Given the description of an element on the screen output the (x, y) to click on. 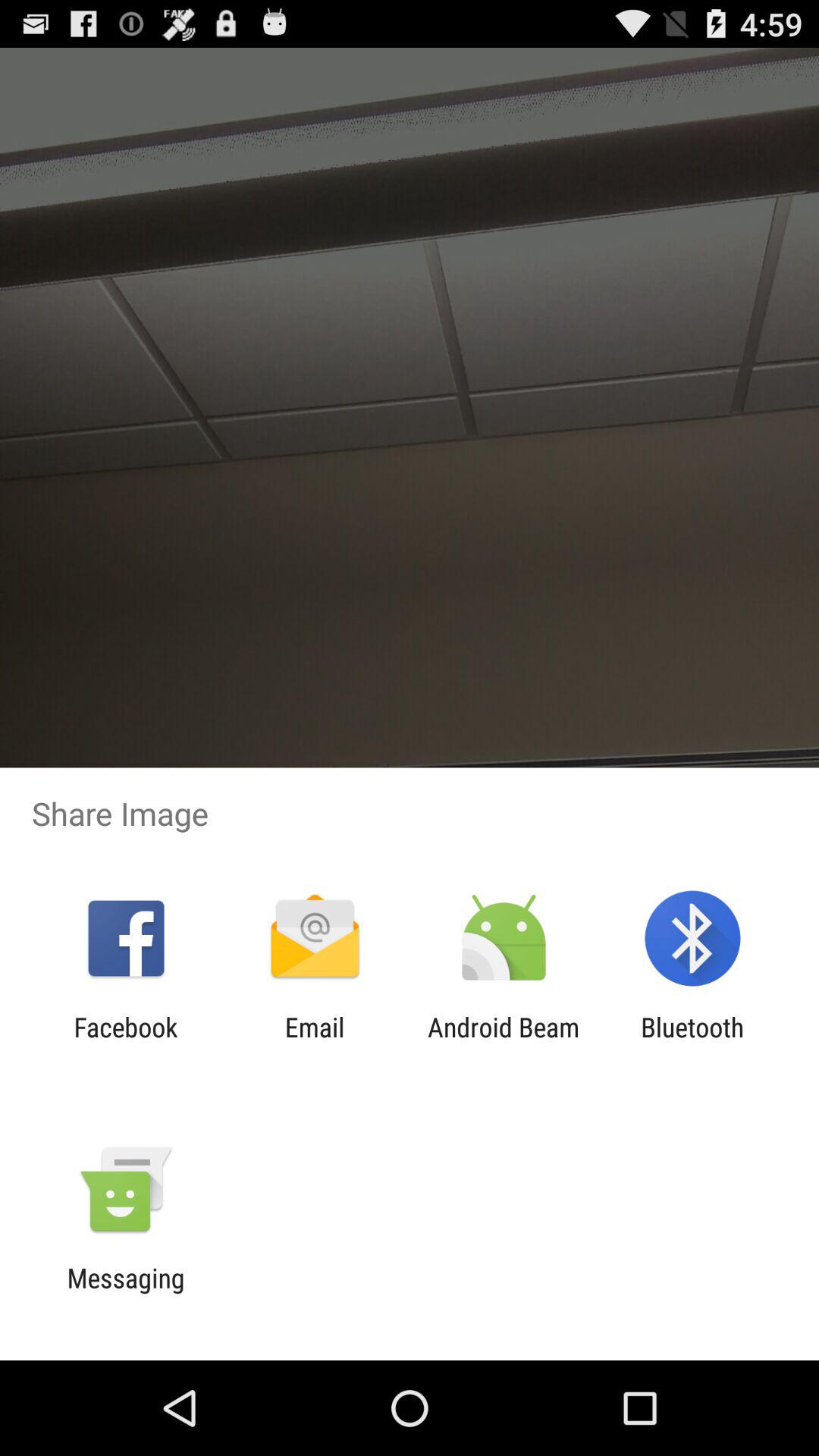
turn on the icon to the right of the email icon (503, 1042)
